Given the description of an element on the screen output the (x, y) to click on. 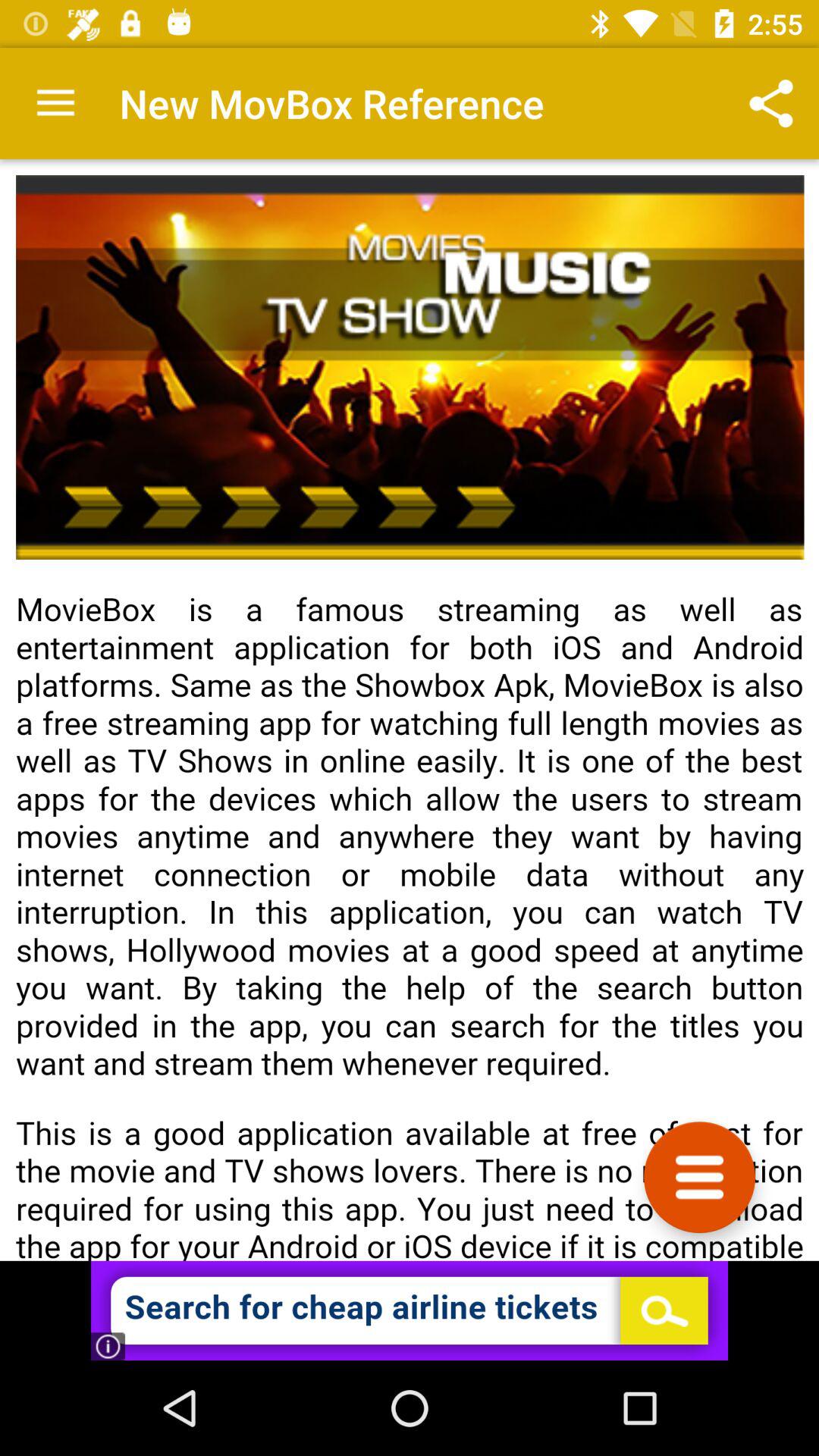
go to search (409, 1310)
